Given the description of an element on the screen output the (x, y) to click on. 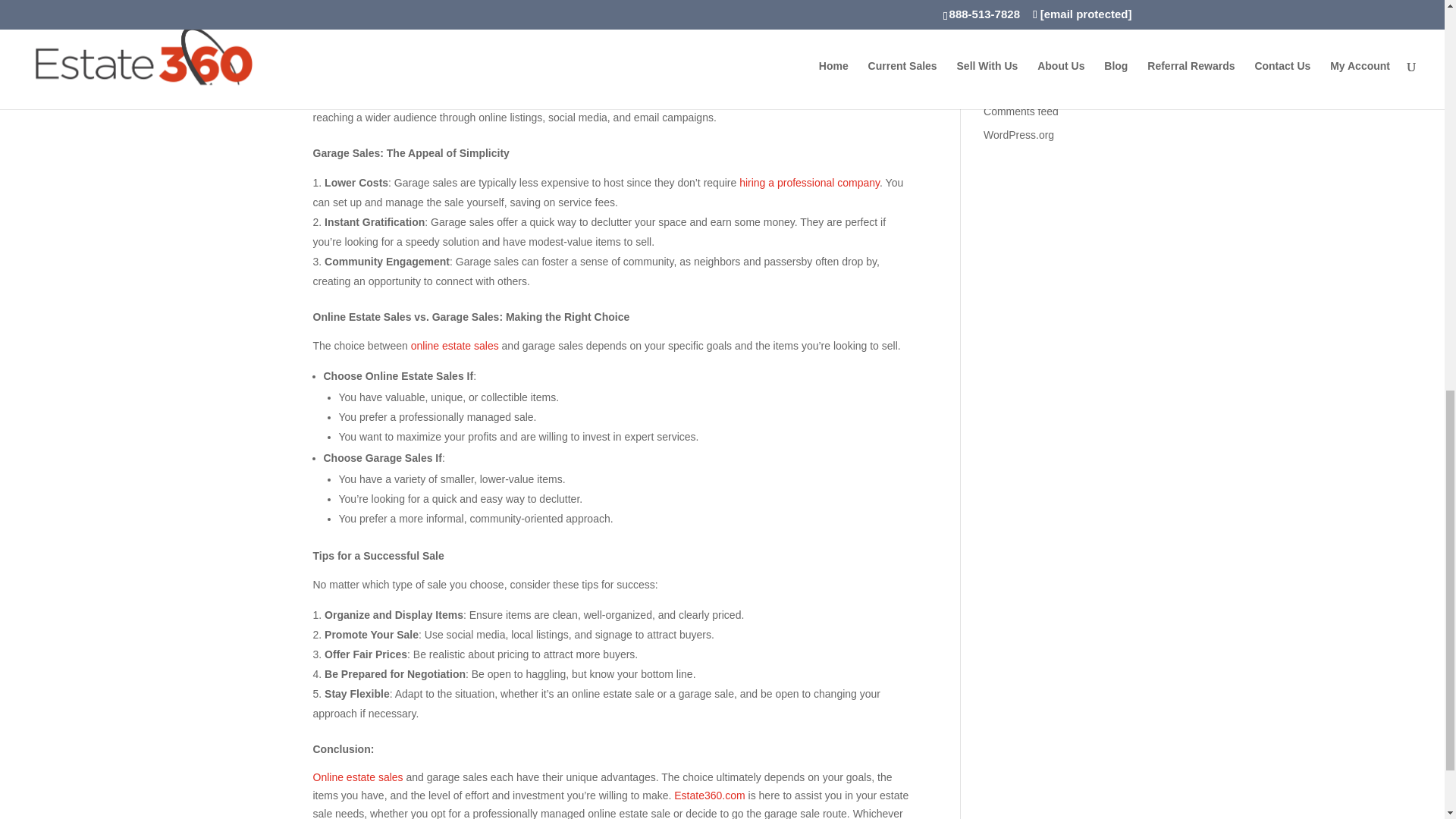
Estate360.com (591, 97)
Online estate sales (410, 58)
Estate360.com (709, 795)
Uncategorized (1017, 4)
Log in (997, 64)
hiring a professional company (809, 182)
Online estate sales (358, 776)
online estate sales (454, 345)
Online estate sales (451, 19)
